Given the description of an element on the screen output the (x, y) to click on. 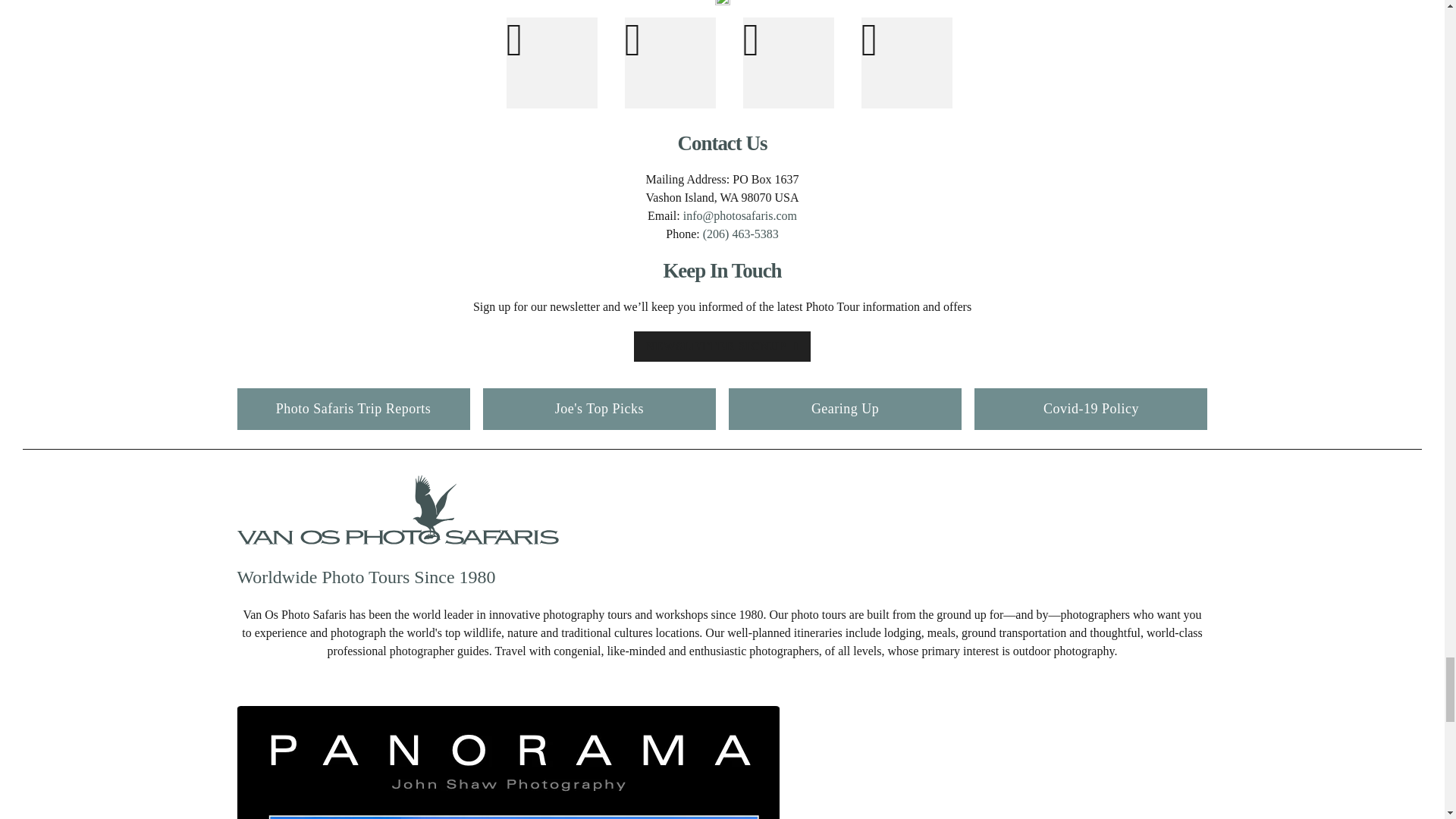
YouTube (788, 62)
LinkedIn (906, 62)
Facebook (551, 62)
Instagram (670, 62)
